Given the description of an element on the screen output the (x, y) to click on. 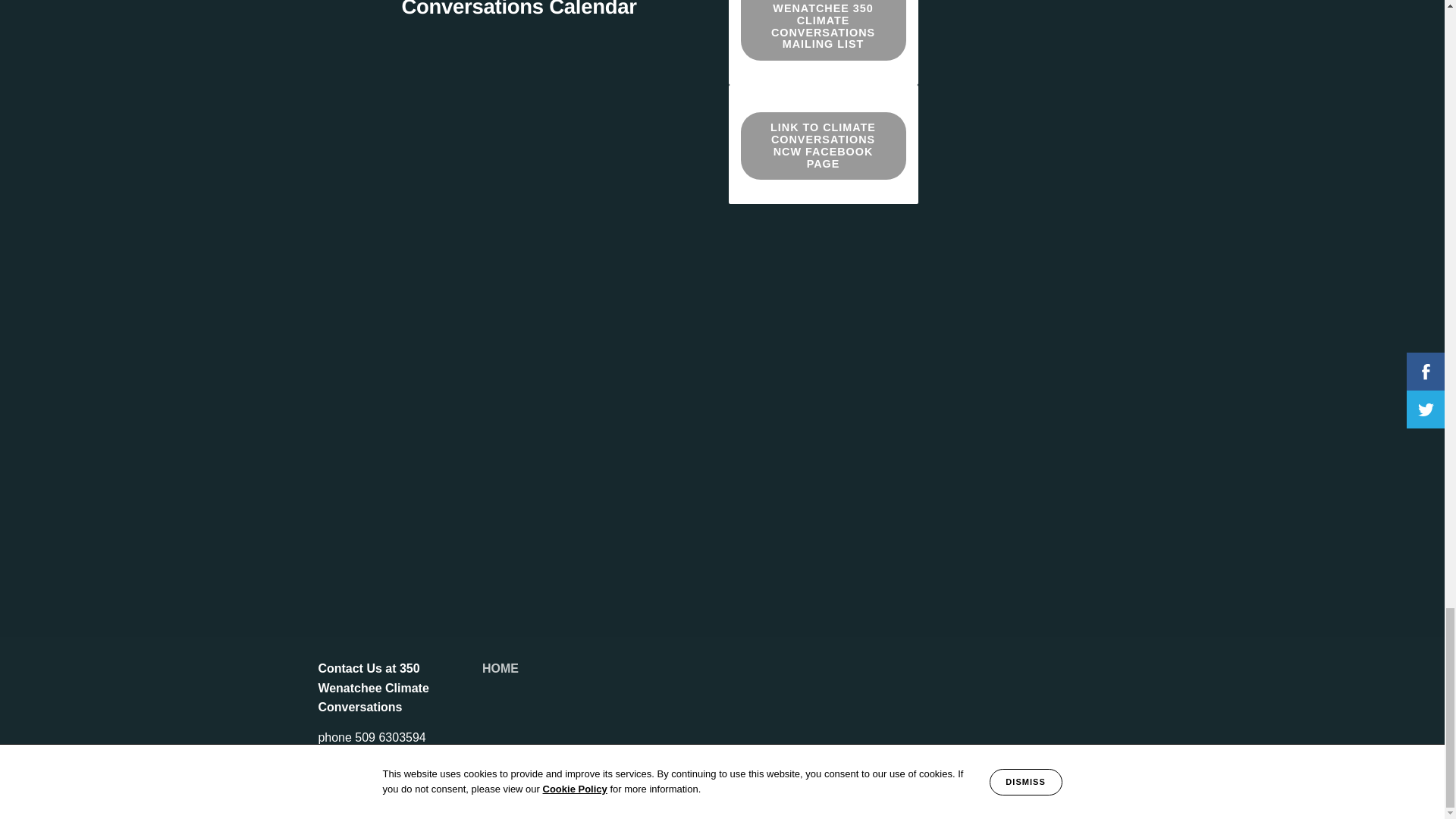
HOME (499, 667)
LINK TO CLIMATE CONVERSATIONS NCW FACEBOOK PAGE (823, 145)
SIGN UP FOR WENATCHEE 350 CLIMATE CONVERSATIONS MAILING LIST (823, 30)
